Given the description of an element on the screen output the (x, y) to click on. 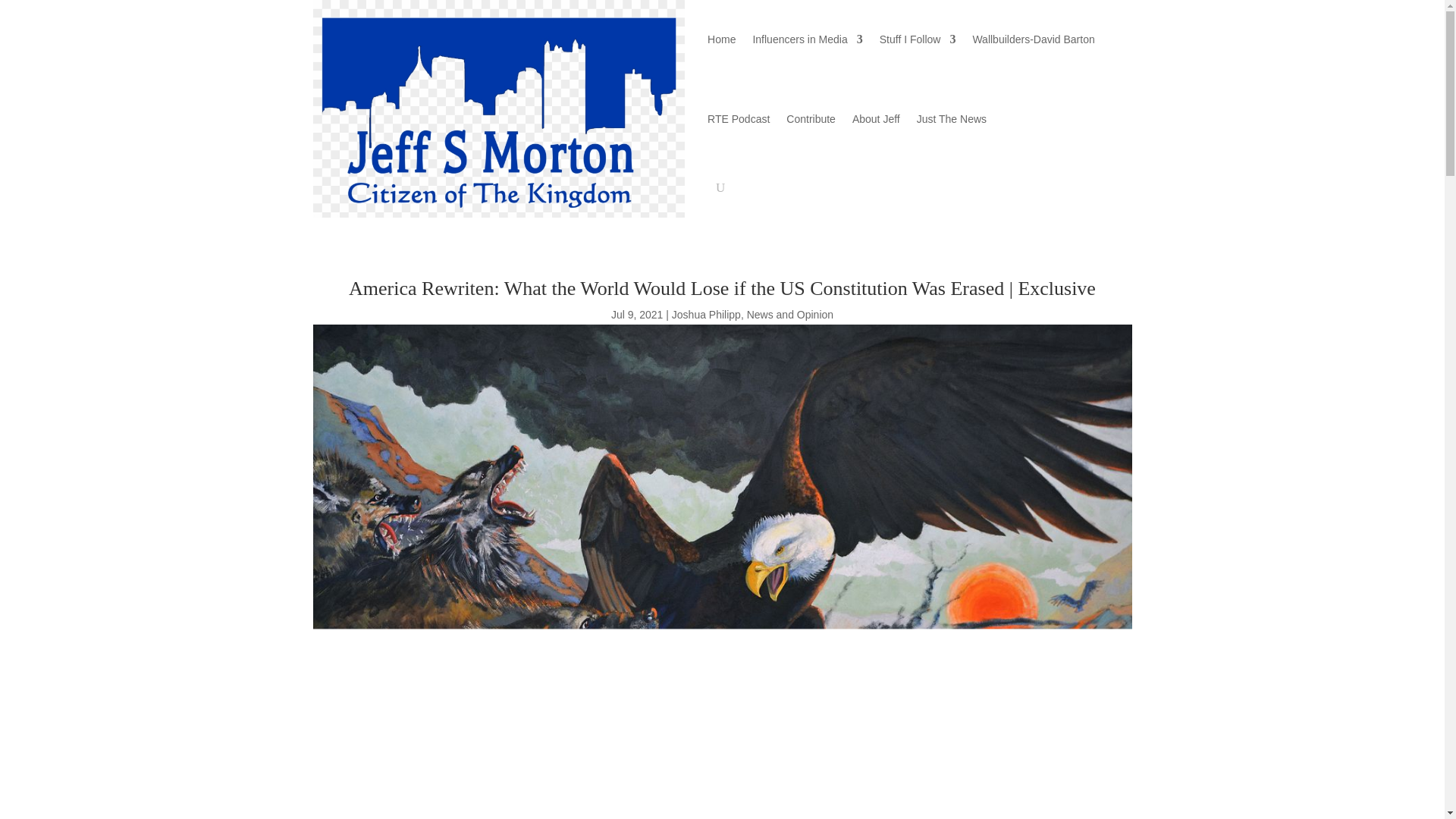
Wallbuilders-David Barton (1033, 39)
Stuff I Follow (917, 39)
Influencers in Media (806, 39)
News and Opinion (789, 314)
Joshua Philipp (706, 314)
